Given the description of an element on the screen output the (x, y) to click on. 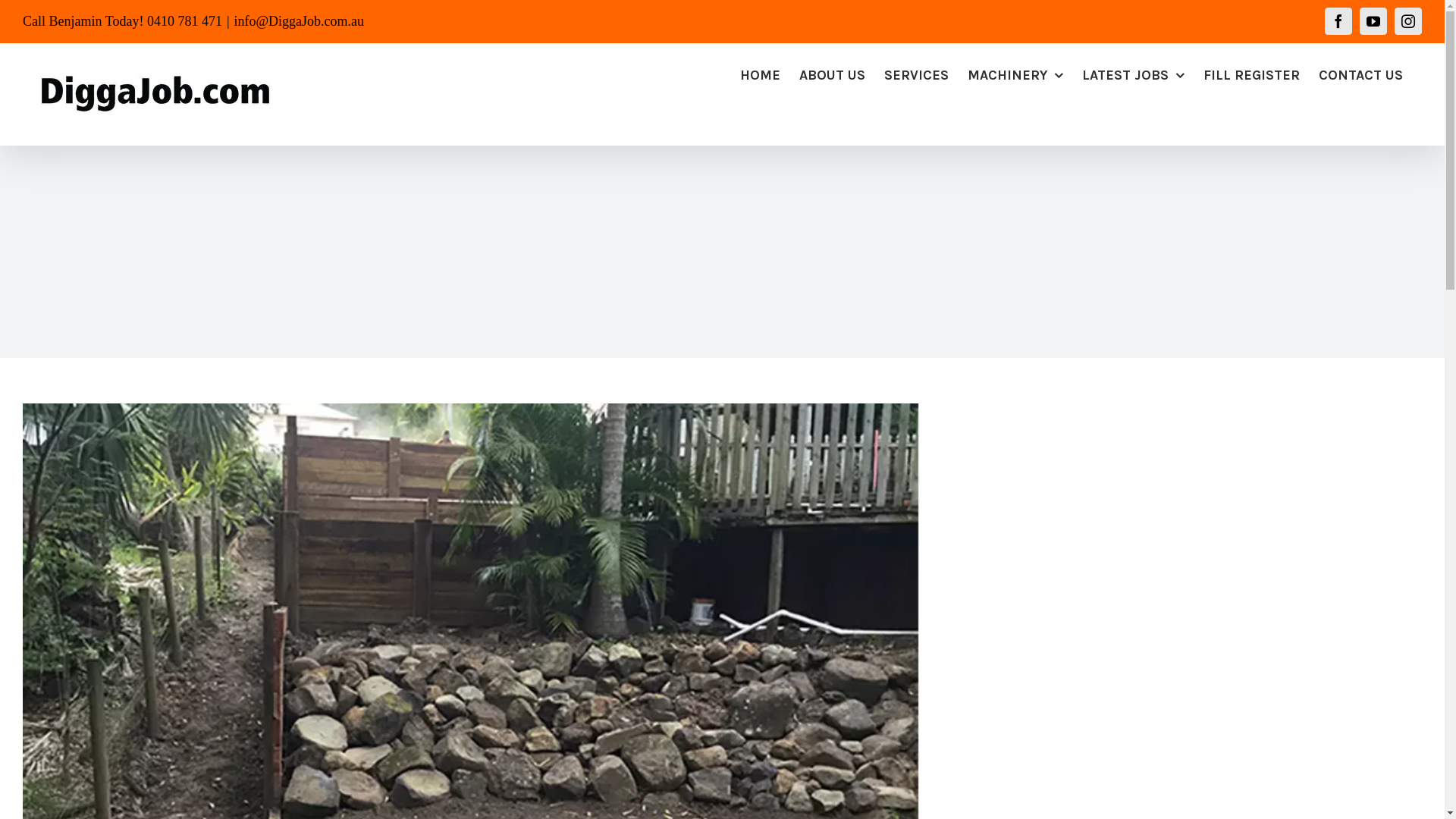
ABOUT US Element type: text (832, 74)
SERVICES Element type: text (916, 74)
MACHINERY Element type: text (1015, 74)
instagram Element type: text (1407, 20)
info@DiggaJob.com.au Element type: text (298, 20)
CONTACT US Element type: text (1360, 74)
LATEST JOBS Element type: text (1133, 74)
HOME Element type: text (760, 74)
youtube Element type: text (1372, 20)
facebook Element type: text (1338, 20)
FILL REGISTER Element type: text (1251, 74)
